Given the description of an element on the screen output the (x, y) to click on. 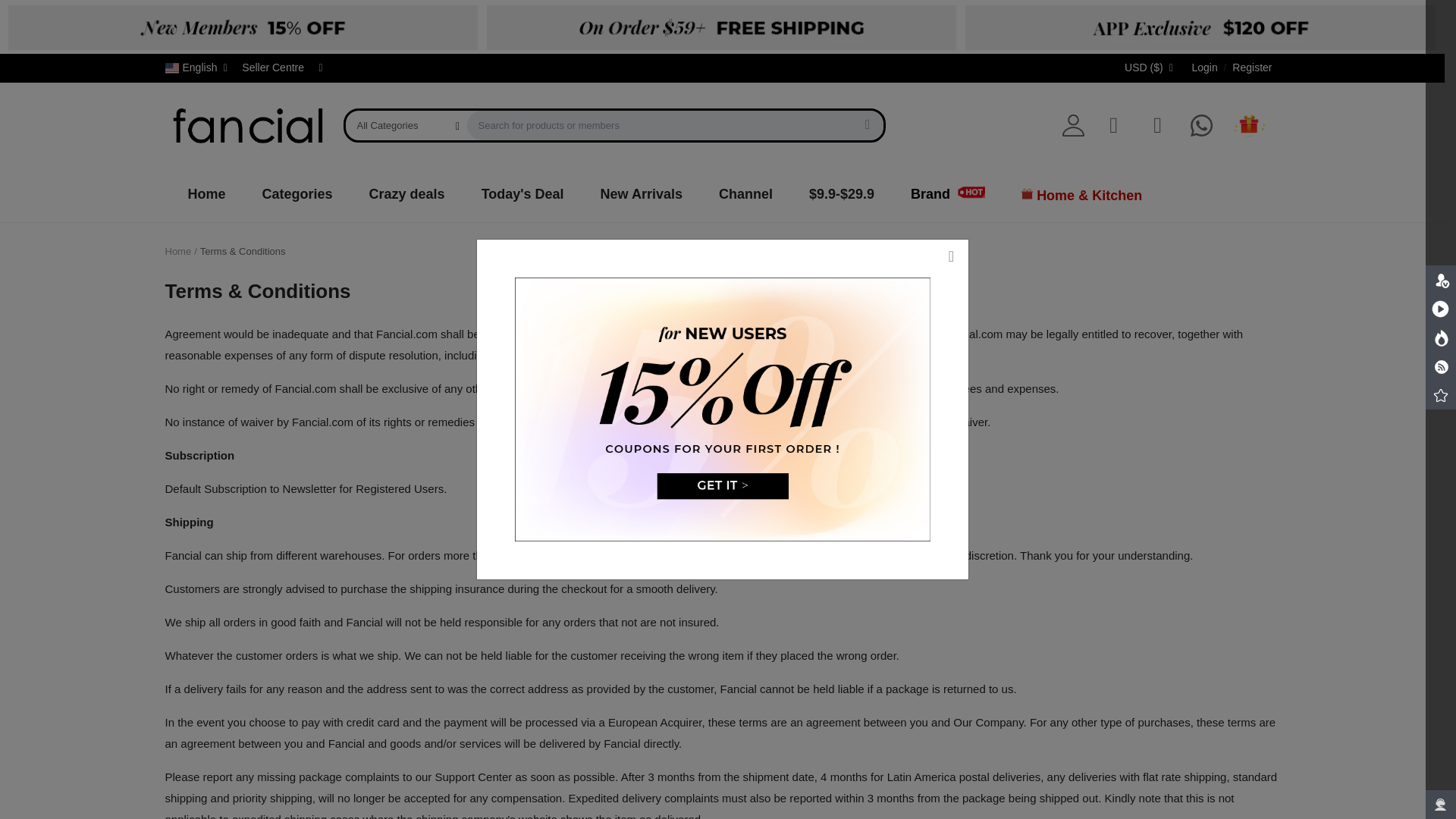
Seller Centre (272, 67)
All Categories (406, 125)
Login (1204, 67)
Register (1251, 67)
English  (198, 67)
